Given the description of an element on the screen output the (x, y) to click on. 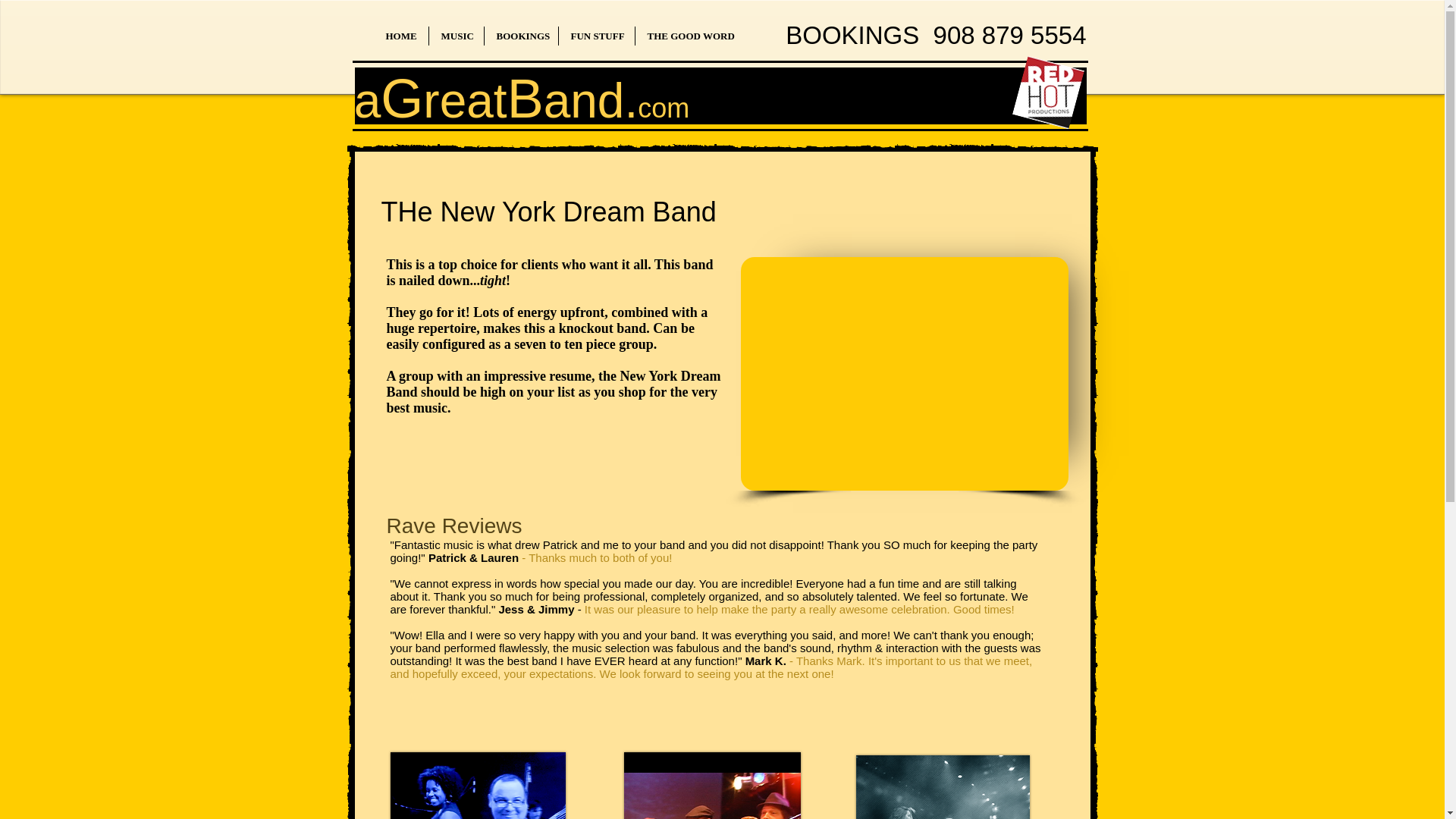
THE GOOD WORD (688, 35)
com (662, 107)
HOME (400, 35)
MUSIC (456, 35)
and. (591, 100)
reat (464, 100)
BOOKINGS (520, 35)
External Vimeo (903, 373)
FUN STUFF (595, 35)
